Given the description of an element on the screen output the (x, y) to click on. 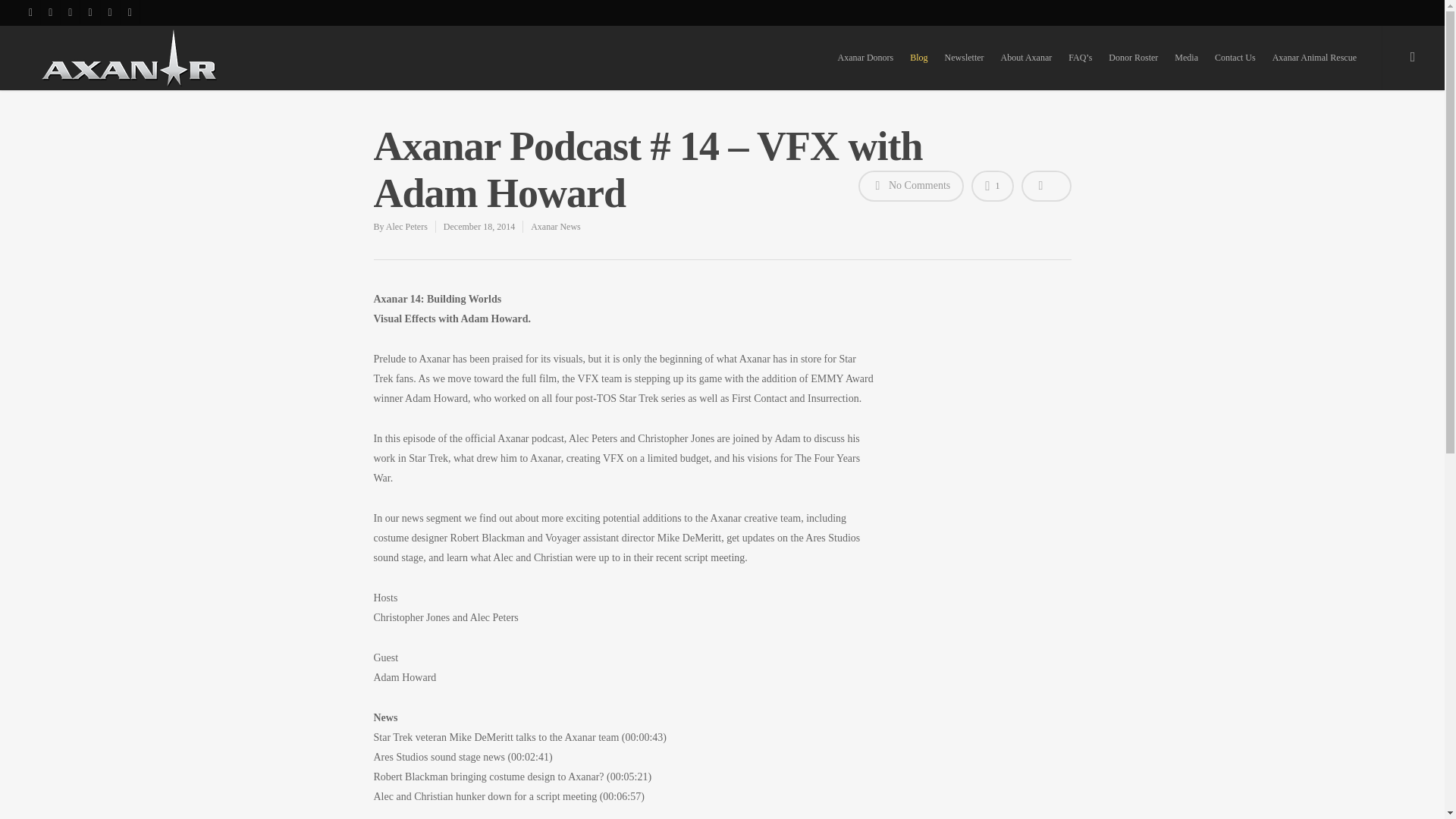
Donor Roster (1133, 58)
Posts by Alec Peters (406, 226)
About Axanar (1025, 58)
Love this (992, 185)
Axanar Donors (865, 58)
